Given the description of an element on the screen output the (x, y) to click on. 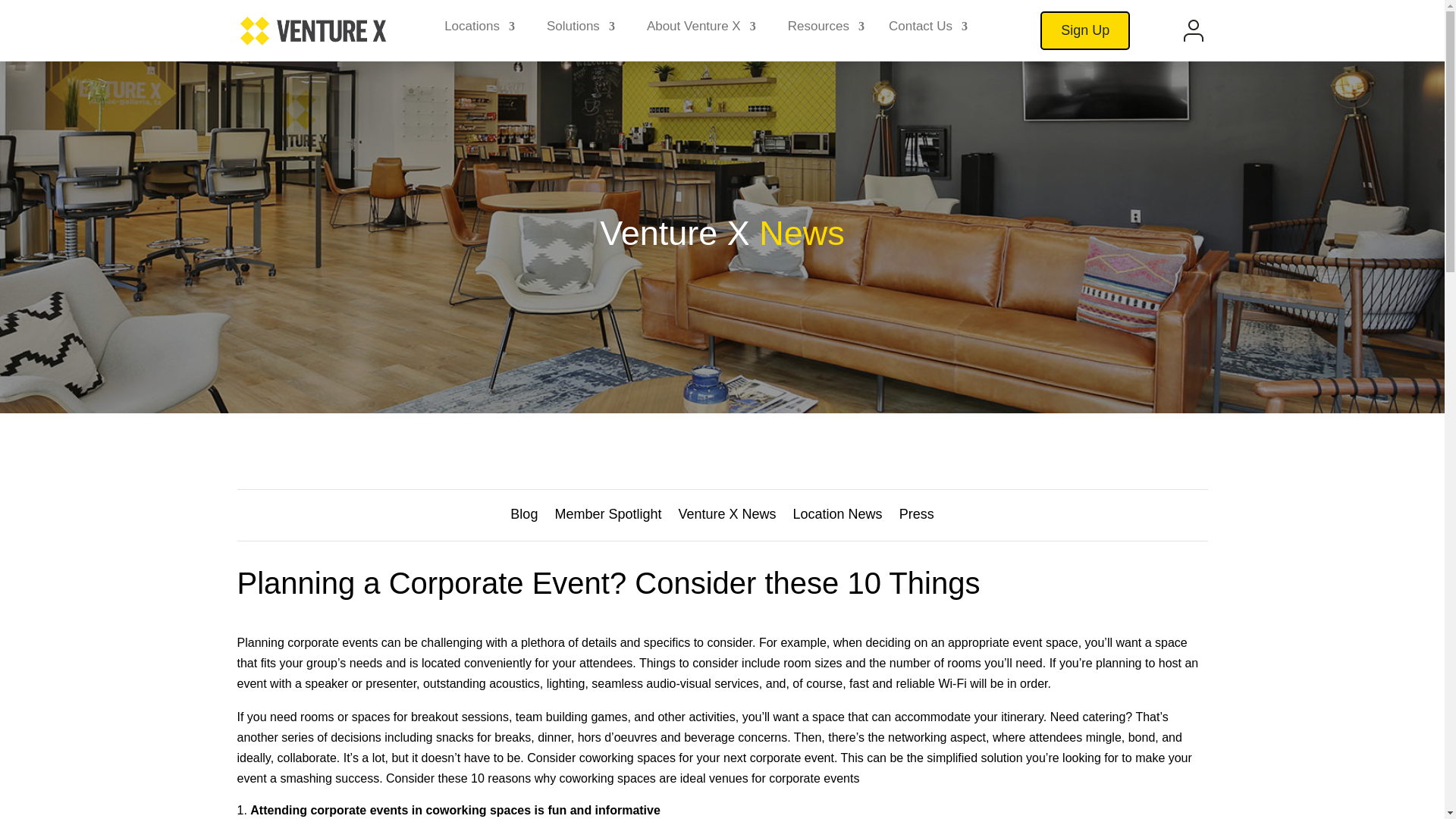
Resources (825, 30)
Contact Us (928, 30)
Locations (479, 30)
Solutions (580, 30)
vtx-logo-transparent (311, 30)
icon-user-black (1193, 30)
About Venture X (700, 30)
